Given the description of an element on the screen output the (x, y) to click on. 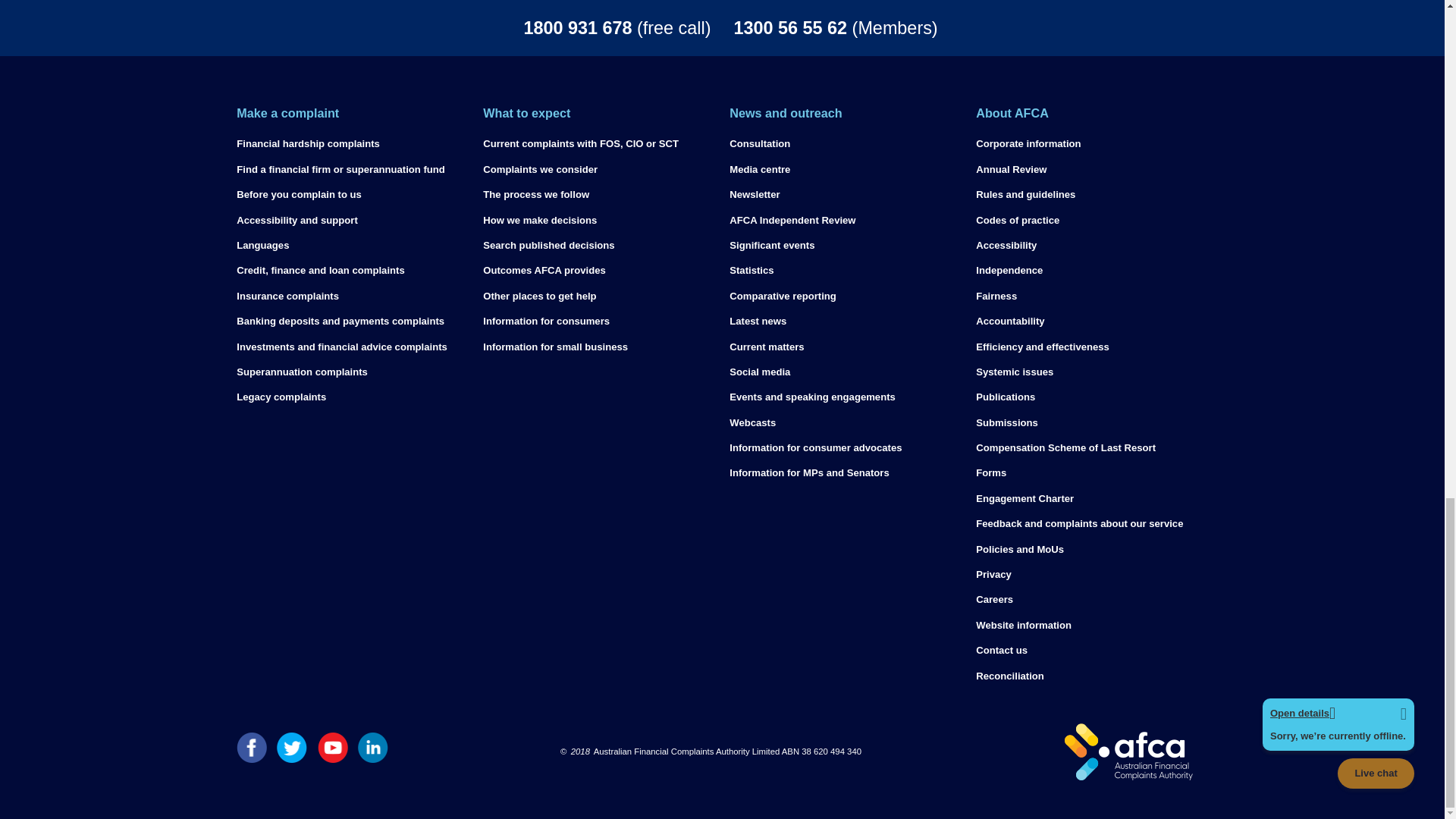
If you are already a member, click here to call us (932, 27)
If you are not a member, click here to call us (511, 27)
Click here to visit our Facebook Page (250, 758)
Click here to visit our Twitter Page (291, 758)
Click here to visit our LinkedIn Page (373, 758)
Click here to visit our YouTube Page (332, 758)
